Given the description of an element on the screen output the (x, y) to click on. 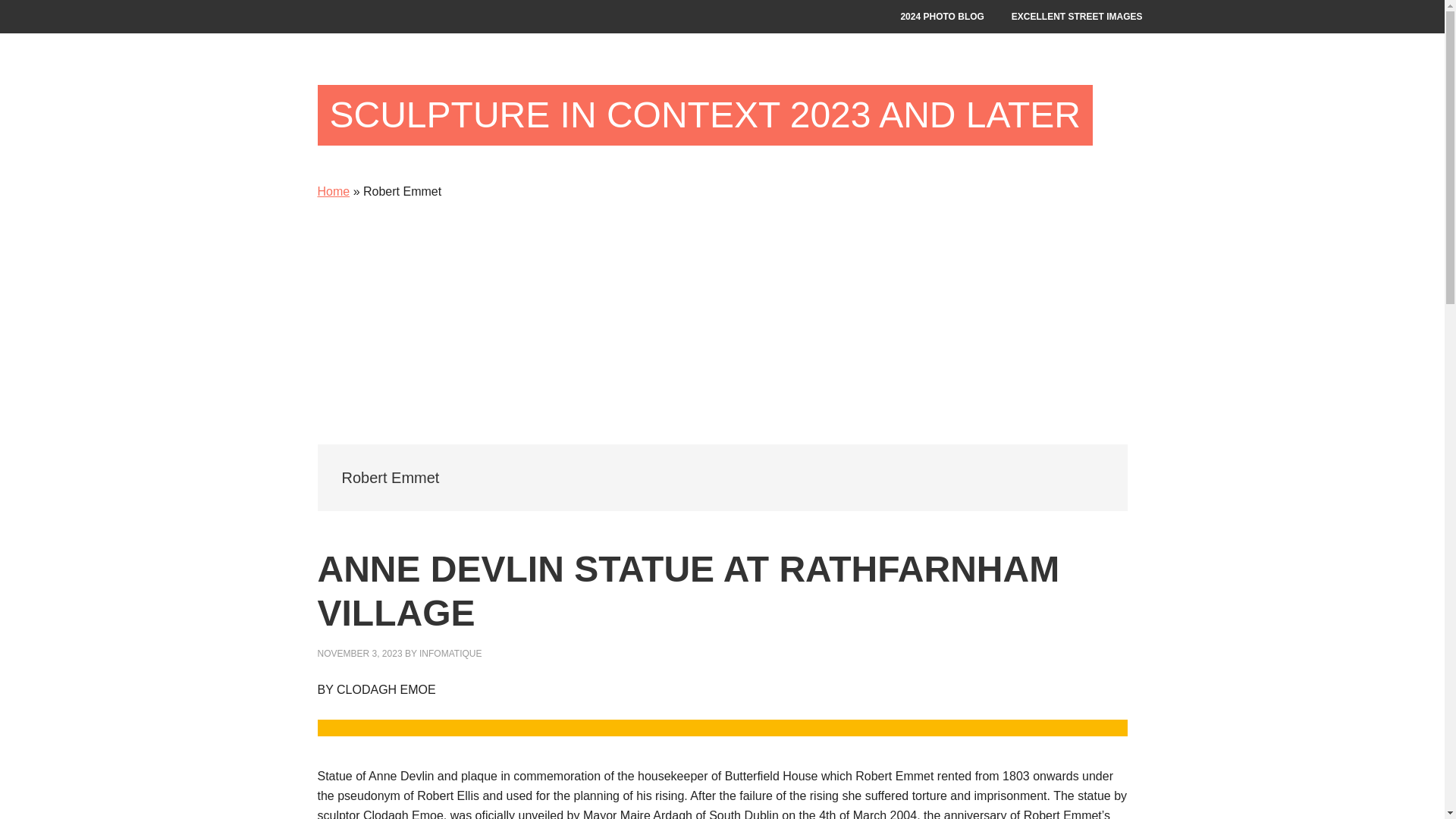
ANNE DEVLIN STATUE AT RATHFARNHAM VILLAGE (688, 590)
2024 PHOTO BLOG (941, 16)
Home (333, 191)
INFOMATIQUE (450, 653)
SCULPTURE IN CONTEXT 2023 AND LATER (705, 115)
EXCELLENT STREET IMAGES (1076, 16)
